Given the description of an element on the screen output the (x, y) to click on. 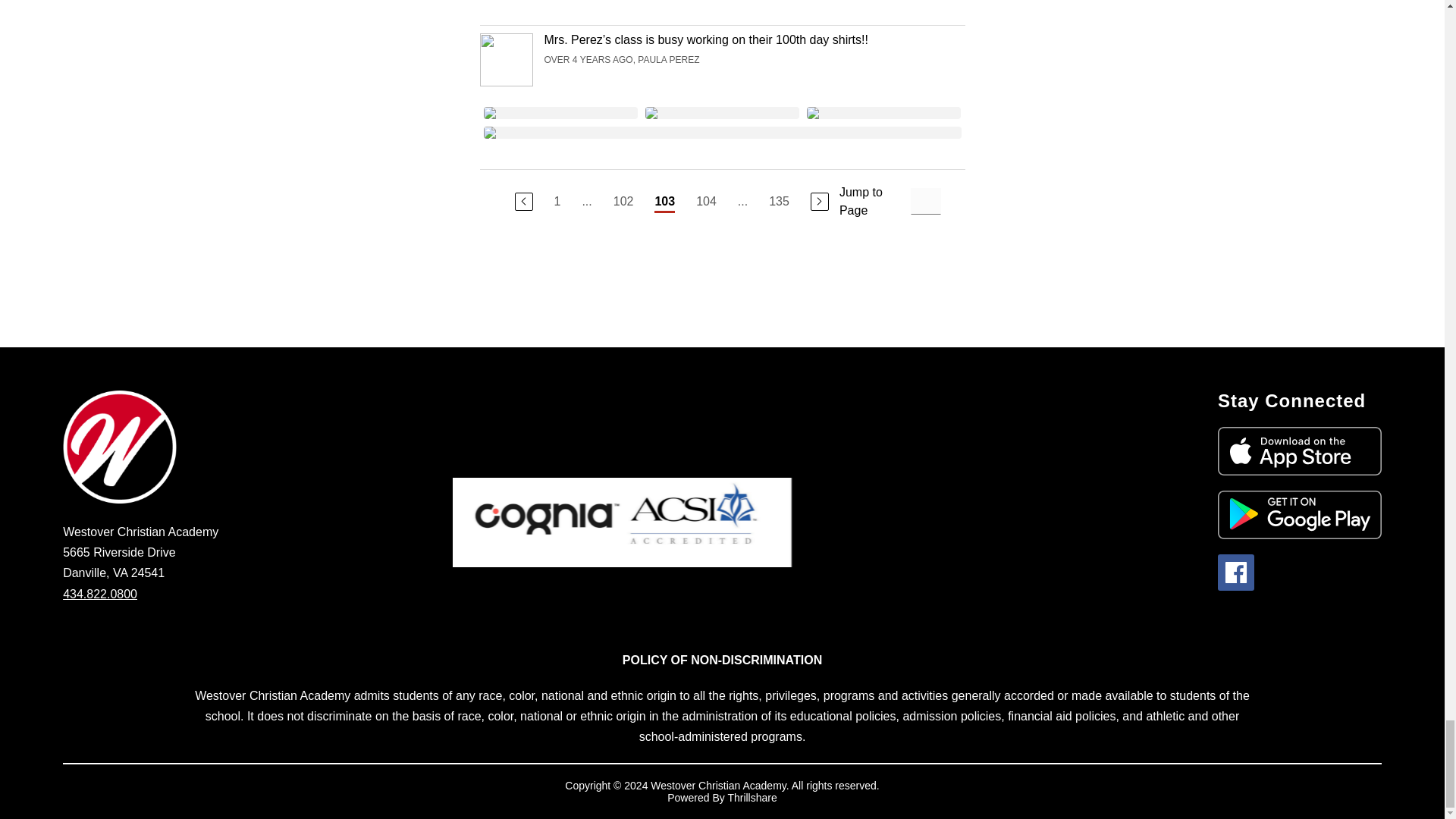
434.822.0800 (99, 594)
135 (778, 201)
Thrillshare (751, 797)
104 (705, 201)
102 (622, 201)
